Given the description of an element on the screen output the (x, y) to click on. 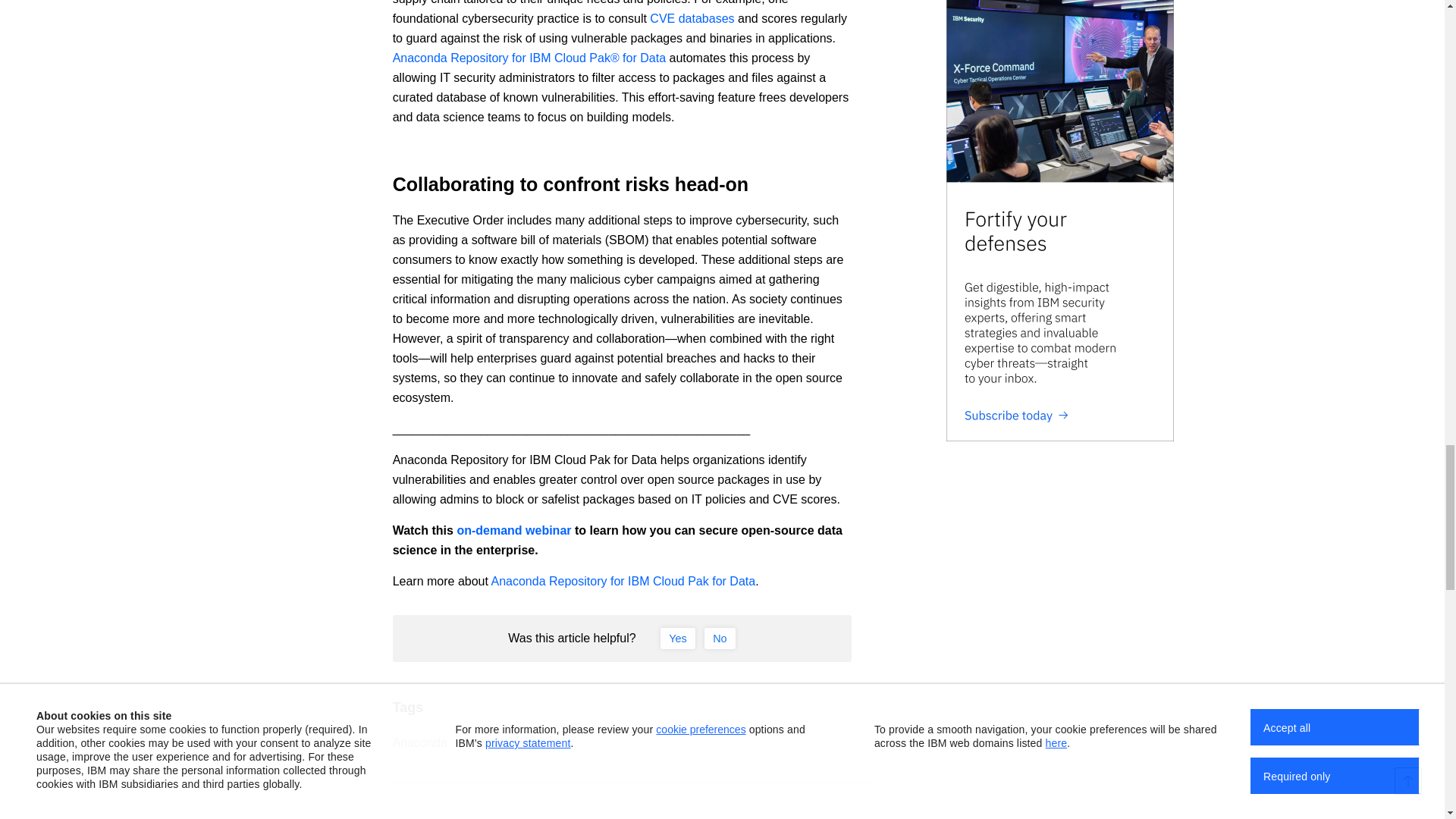
CVE databases (691, 18)
Anaconda Repository for IBM Cloud Pak for Data (623, 581)
Anaconda (419, 742)
on-demand webinar (513, 530)
cybersecurity (504, 742)
